Given the description of an element on the screen output the (x, y) to click on. 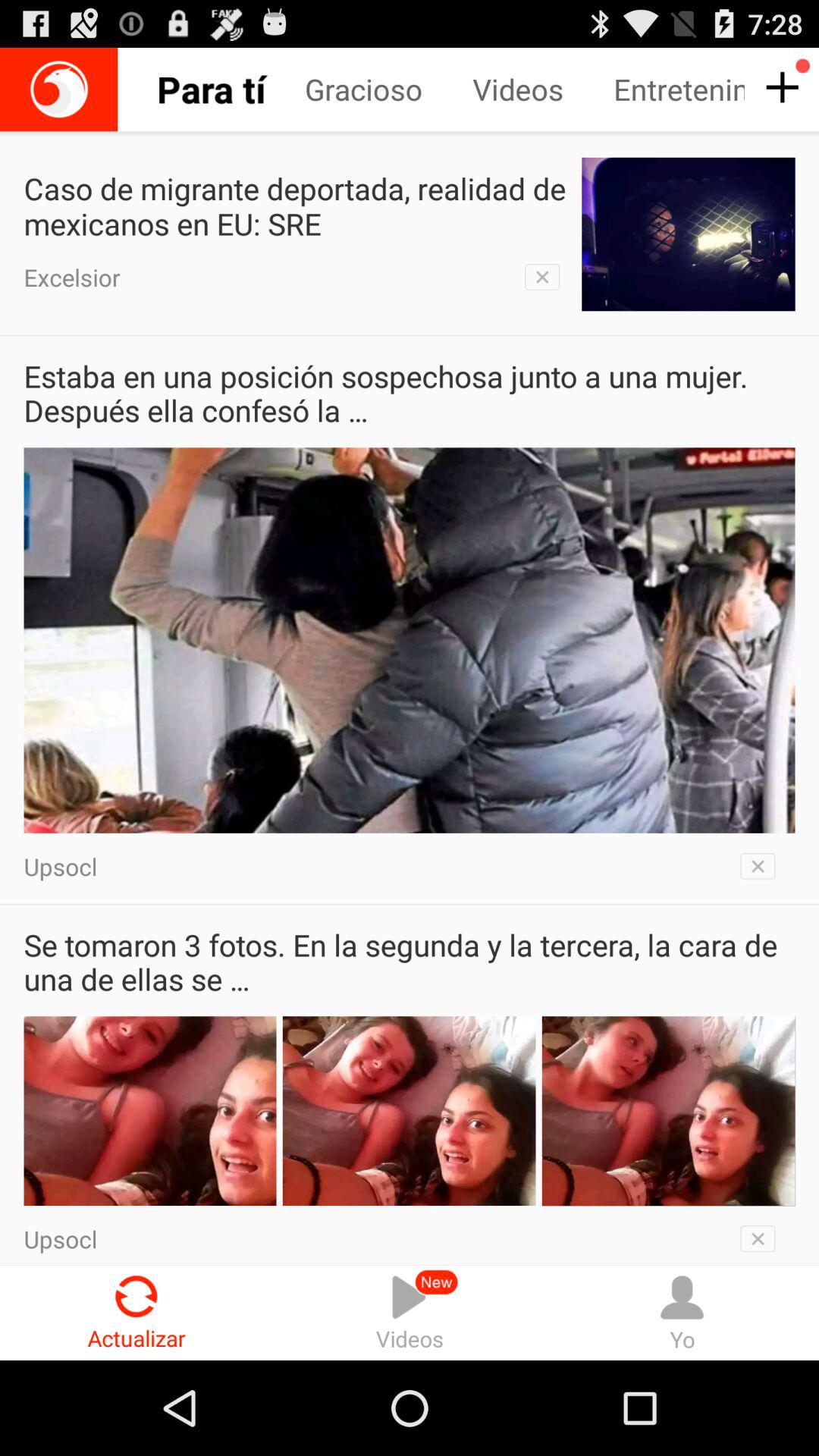
launch item to the left of the videos item (222, 89)
